Given the description of an element on the screen output the (x, y) to click on. 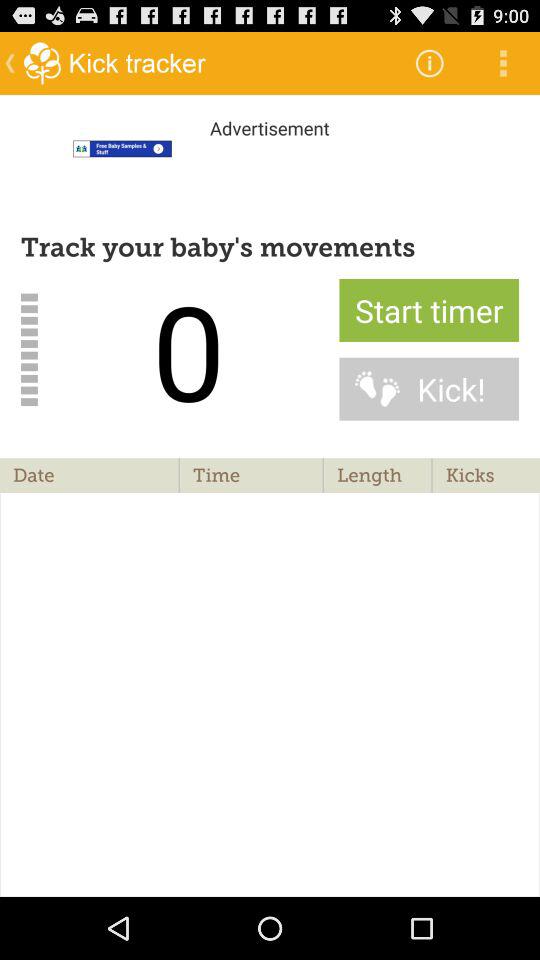
open advertisement (269, 172)
